Given the description of an element on the screen output the (x, y) to click on. 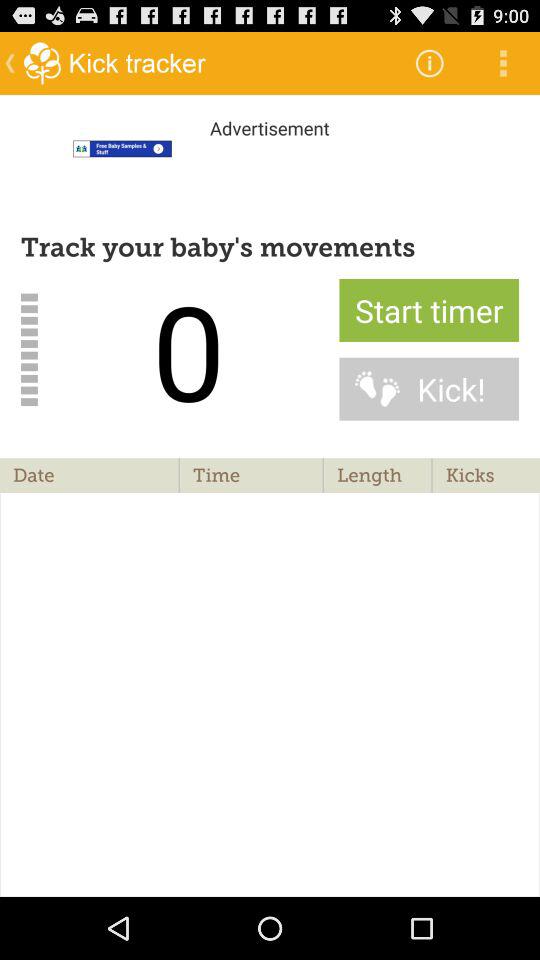
open advertisement (269, 172)
